Given the description of an element on the screen output the (x, y) to click on. 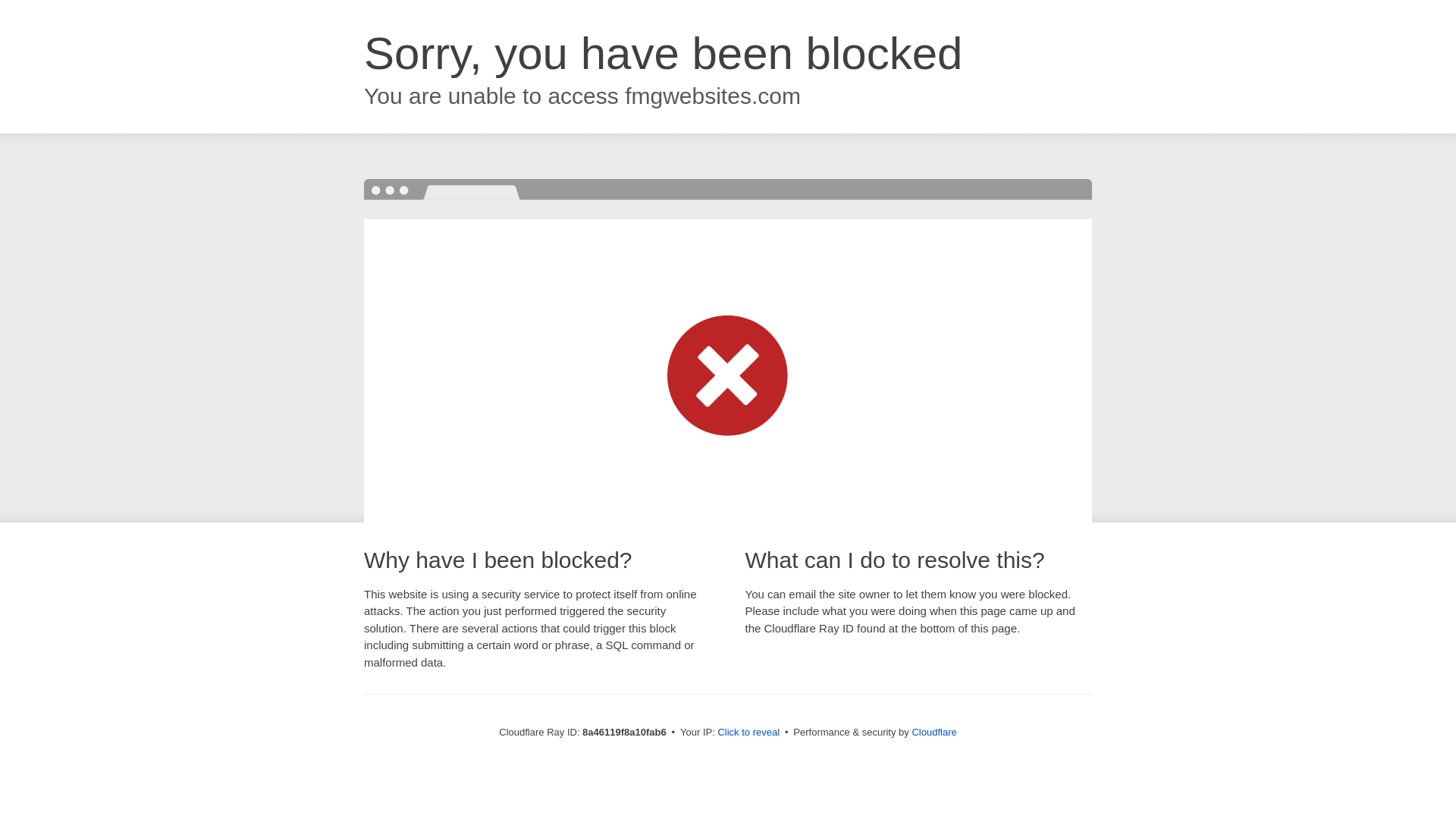
Click to reveal (747, 732)
Cloudflare (933, 731)
